Given the description of an element on the screen output the (x, y) to click on. 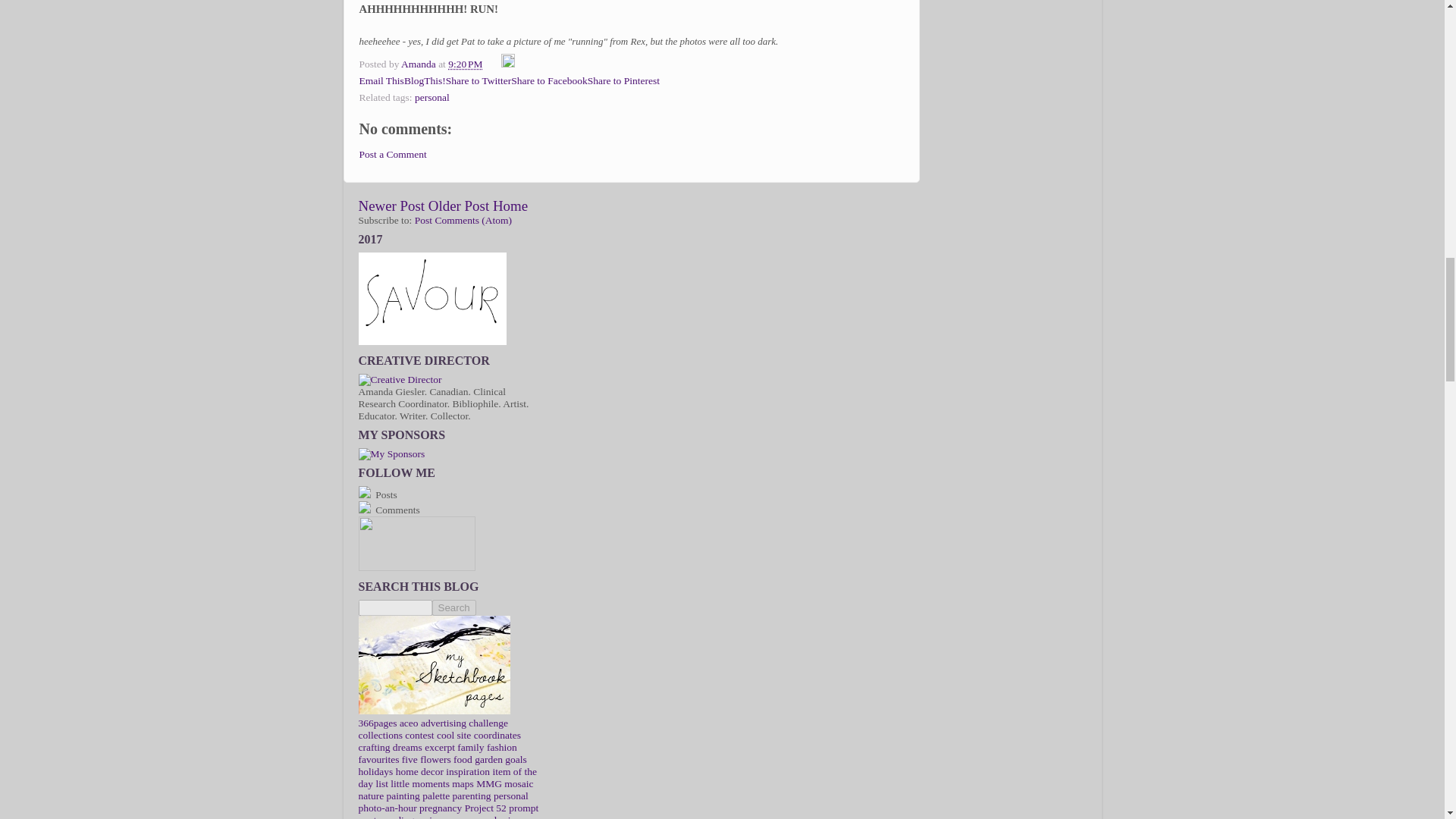
search (394, 607)
collections (379, 735)
Share to Facebook (548, 80)
Older Post (458, 205)
permanent link (464, 63)
Share to Pinterest (623, 80)
Home (510, 205)
Edit Post (507, 63)
Share to Facebook (548, 80)
Share to Twitter (478, 80)
Email This (381, 80)
Older Post (458, 205)
search (454, 607)
advertising (442, 722)
Share to Twitter (478, 80)
